Given the description of an element on the screen output the (x, y) to click on. 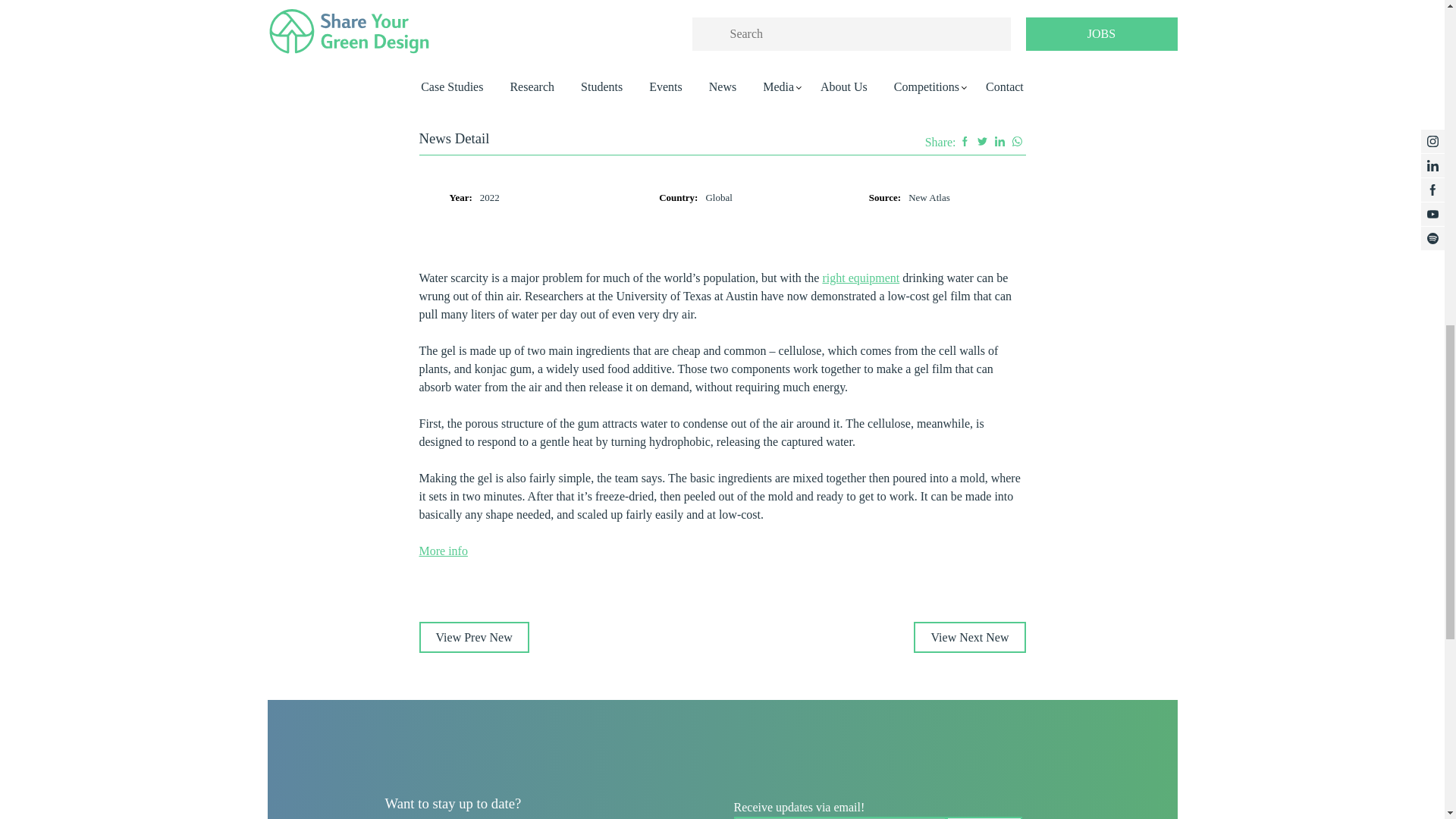
Send (984, 817)
View Next New (969, 636)
More info (443, 550)
View Prev New (473, 636)
Send (984, 817)
right equipment (860, 277)
